Given the description of an element on the screen output the (x, y) to click on. 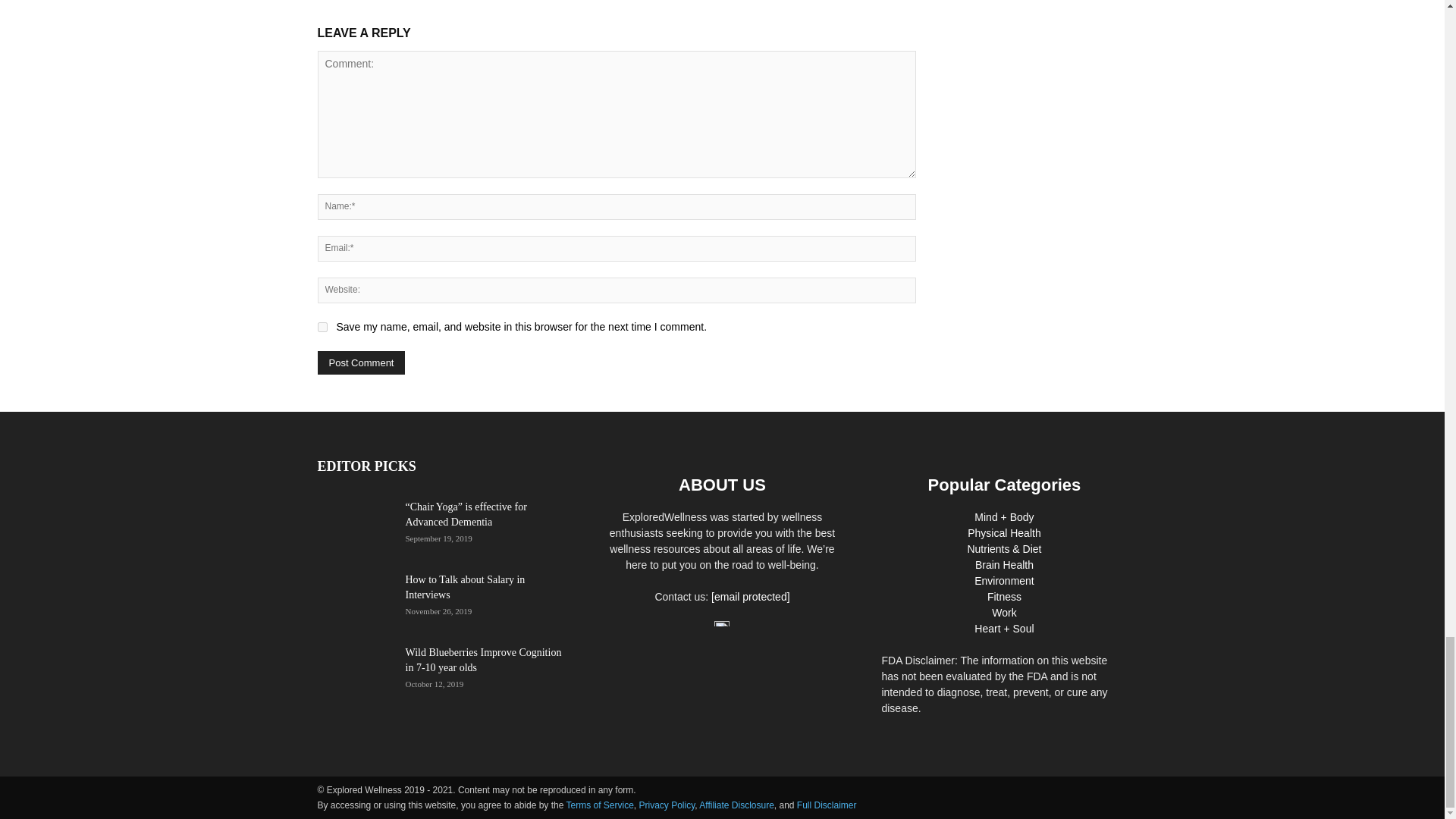
Post Comment (360, 362)
yes (321, 327)
